Given the description of an element on the screen output the (x, y) to click on. 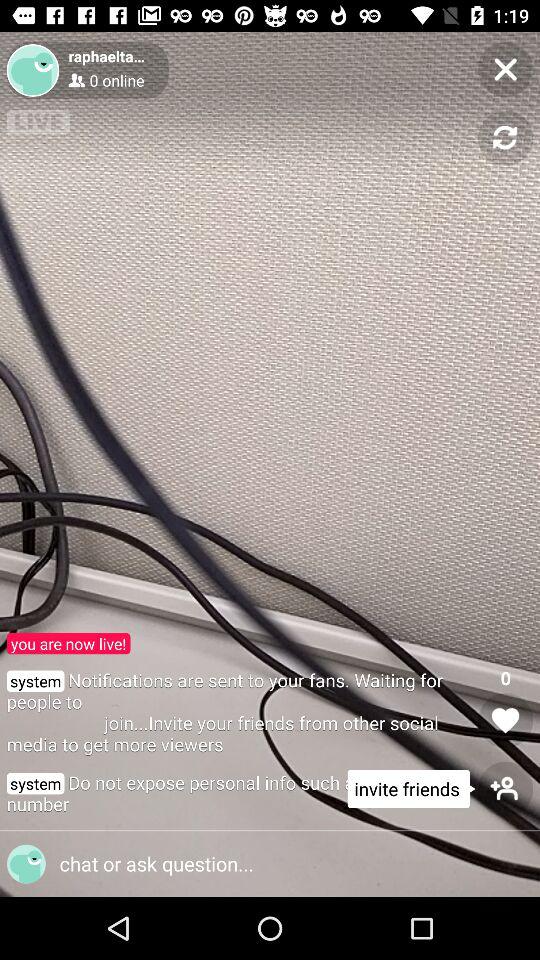
close the page (505, 69)
